Given the description of an element on the screen output the (x, y) to click on. 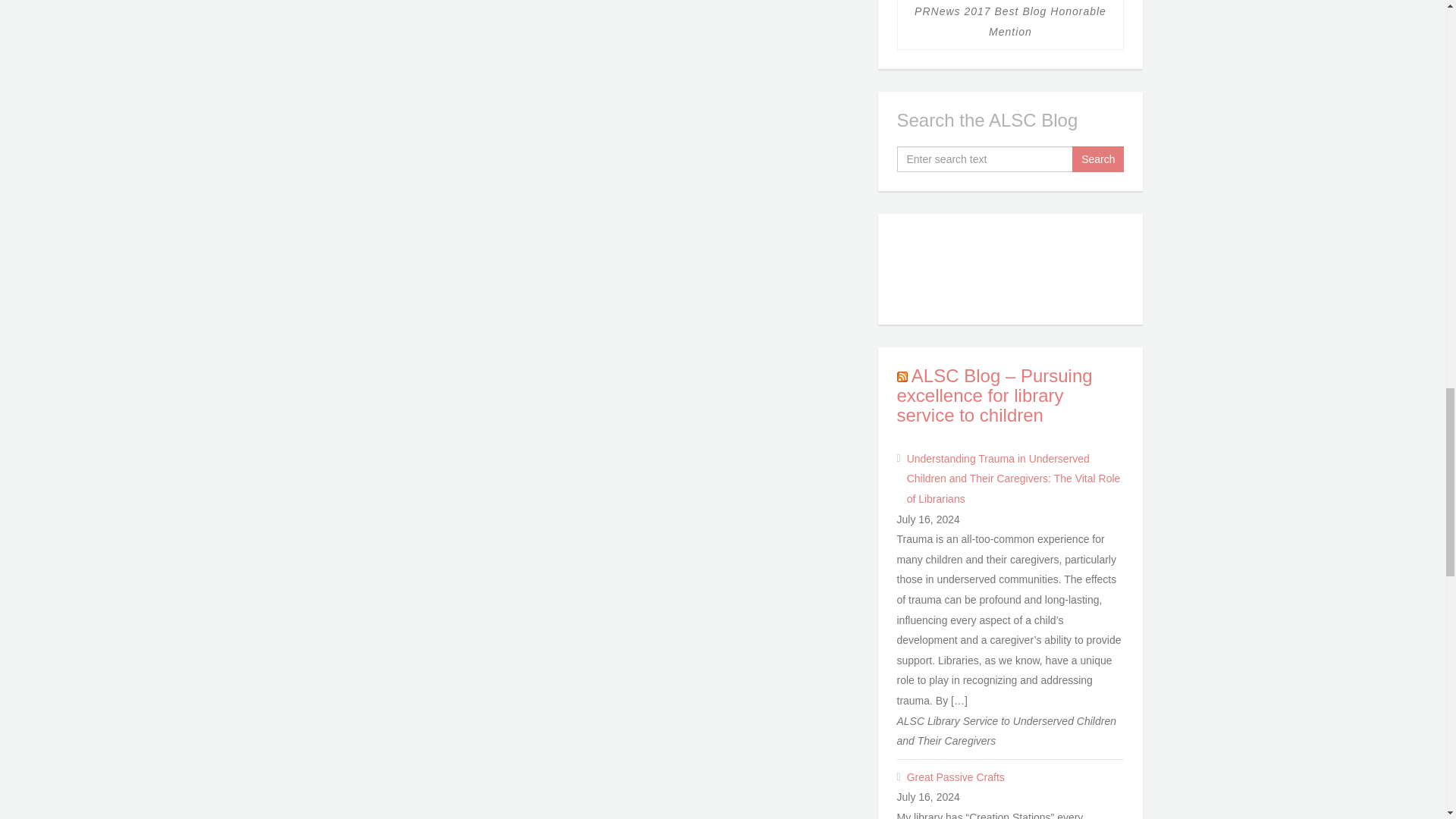
Search (1097, 158)
Great Passive Crafts (1015, 777)
Search (1097, 158)
